Given the description of an element on the screen output the (x, y) to click on. 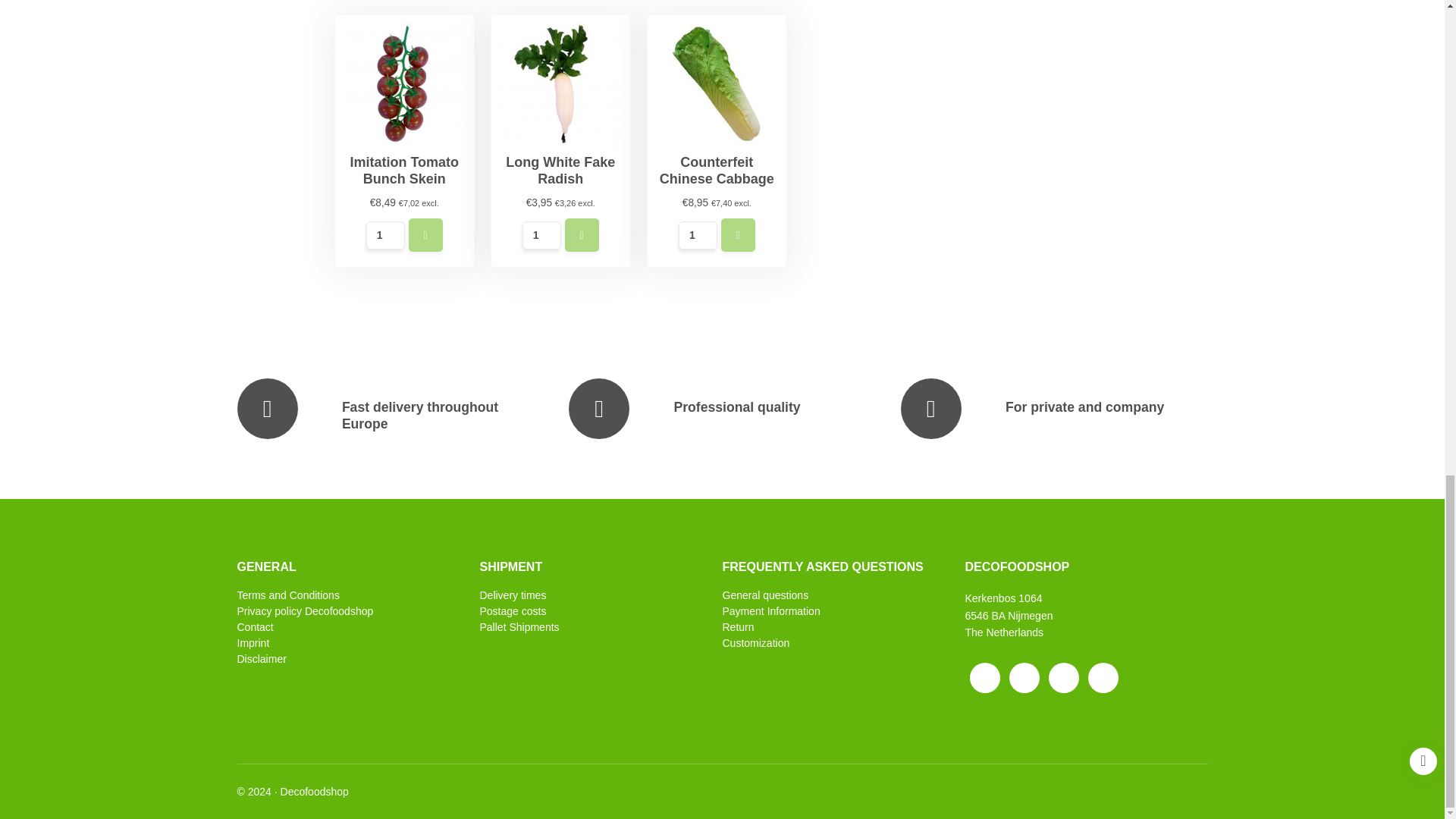
1 (385, 235)
1 (697, 235)
Privacy policy Decofoodshop  (347, 611)
1 (541, 235)
Contact (347, 626)
Terms and Conditions (347, 594)
Imprint (347, 643)
